Given the description of an element on the screen output the (x, y) to click on. 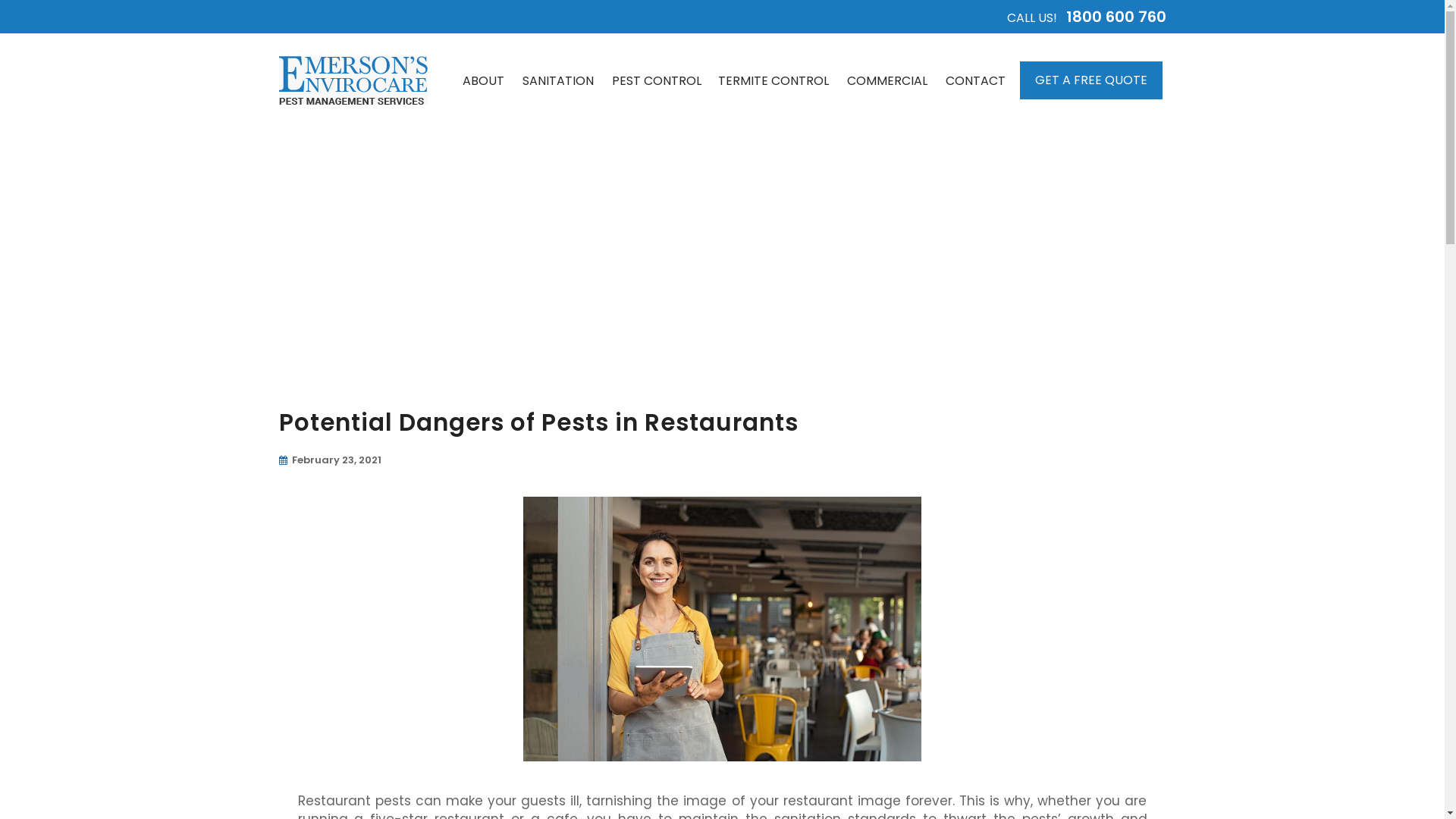
RATS & MICE Element type: text (655, 204)
ANTS Element type: text (655, 116)
1800 600 760 Element type: text (1116, 16)
SPIDERS Element type: text (655, 175)
POSSUMS Element type: text (655, 234)
CONTACT Element type: text (974, 80)
TERMITE CONTROL Element type: text (772, 80)
ABOUT Element type: text (483, 80)
BIRD CONTROL Element type: text (655, 264)
COCKROACHES Element type: text (655, 145)
PEST CONTROL Element type: text (655, 80)
GET A FREE QUOTE Element type: text (1090, 80)
SANITATION Element type: text (557, 80)
COMMERCIAL Element type: text (886, 80)
